Given the description of an element on the screen output the (x, y) to click on. 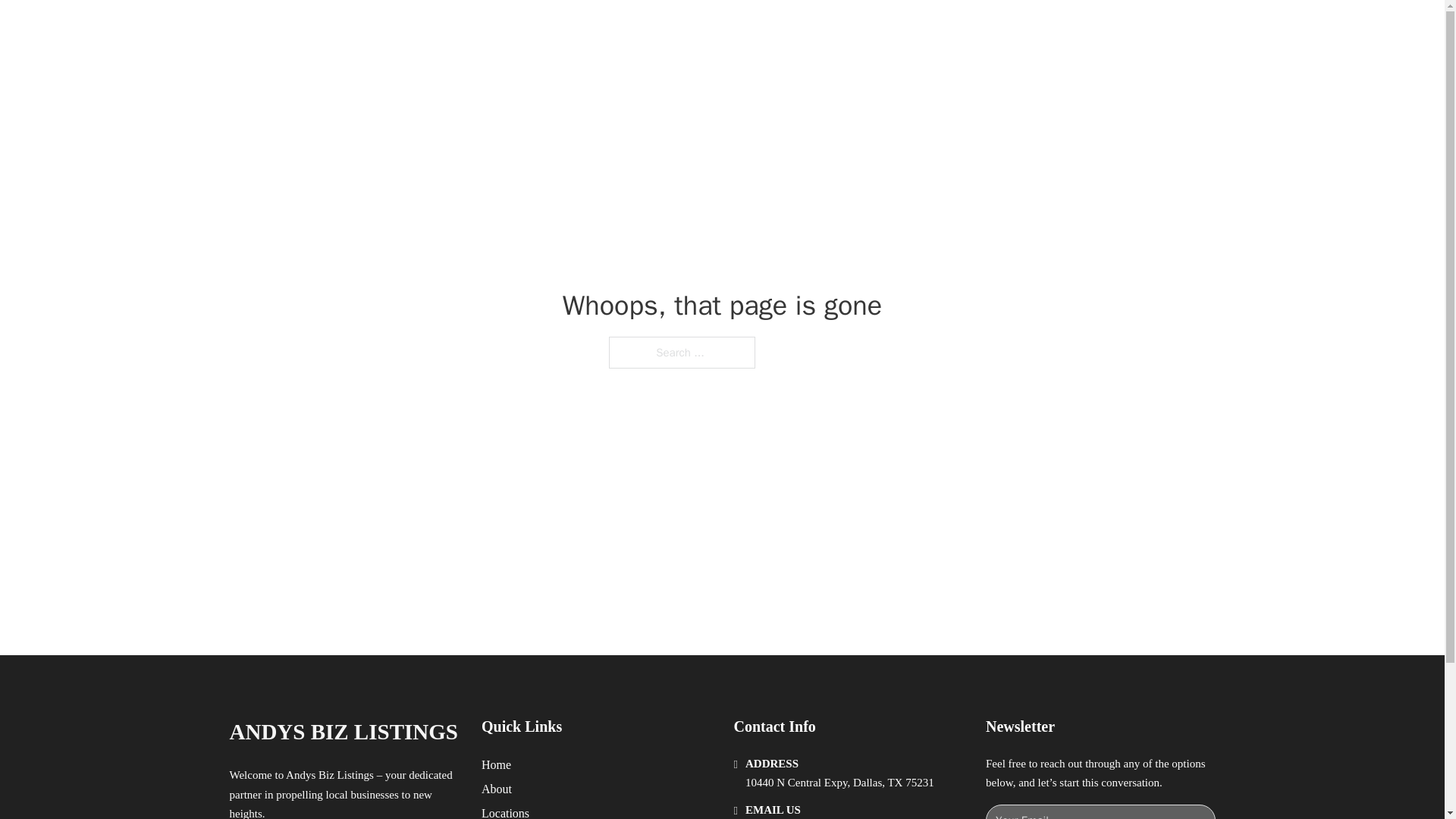
Home (496, 764)
LOCATIONS (990, 29)
ANDYS BIZ LISTINGS (413, 28)
About (496, 788)
ANDYS BIZ LISTINGS (342, 732)
Locations (505, 811)
HOME (919, 29)
